Given the description of an element on the screen output the (x, y) to click on. 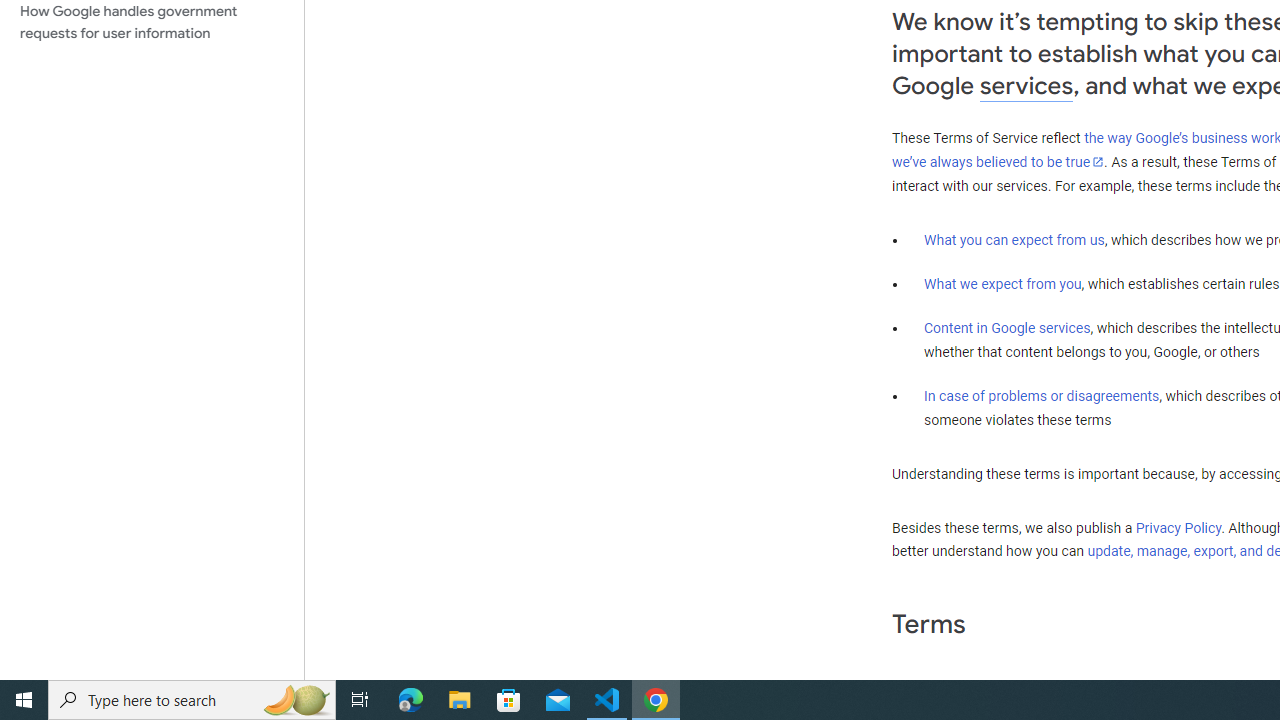
In case of problems or disagreements (1041, 395)
Content in Google services (1007, 327)
What we expect from you (1002, 284)
services (1026, 85)
What you can expect from us (1014, 240)
